Given the description of an element on the screen output the (x, y) to click on. 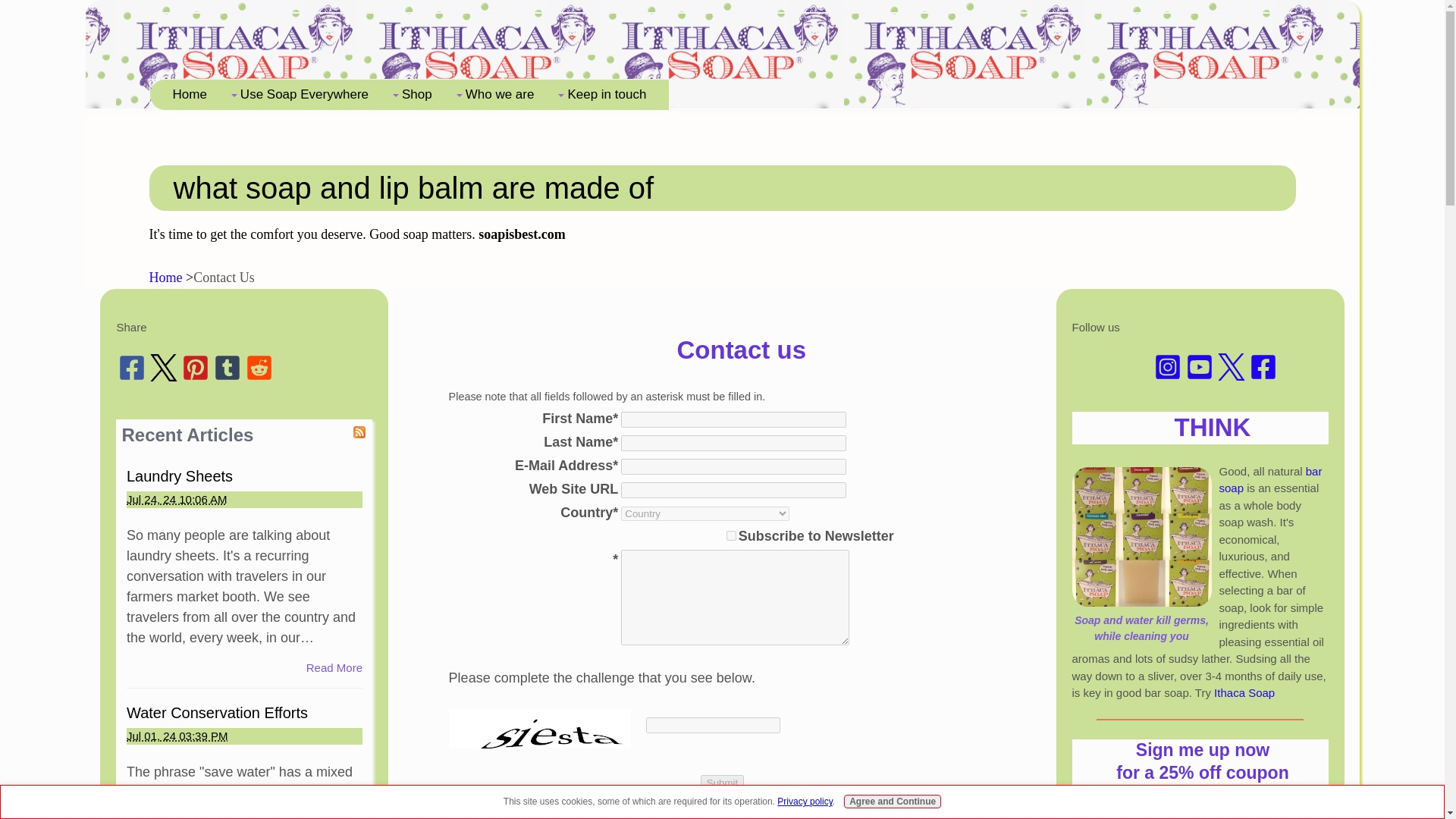
Recent Articles (186, 435)
Submit (722, 782)
1 (731, 535)
Home (189, 94)
Submit (722, 782)
Home (165, 277)
Laundry Sheets (179, 475)
oapisbest.com (524, 233)
Go to Wash Your Hands (1141, 619)
2024-07-24T10:06:08-0400 (176, 499)
2024-07-01T15:39:50-0400 (176, 735)
